Given the description of an element on the screen output the (x, y) to click on. 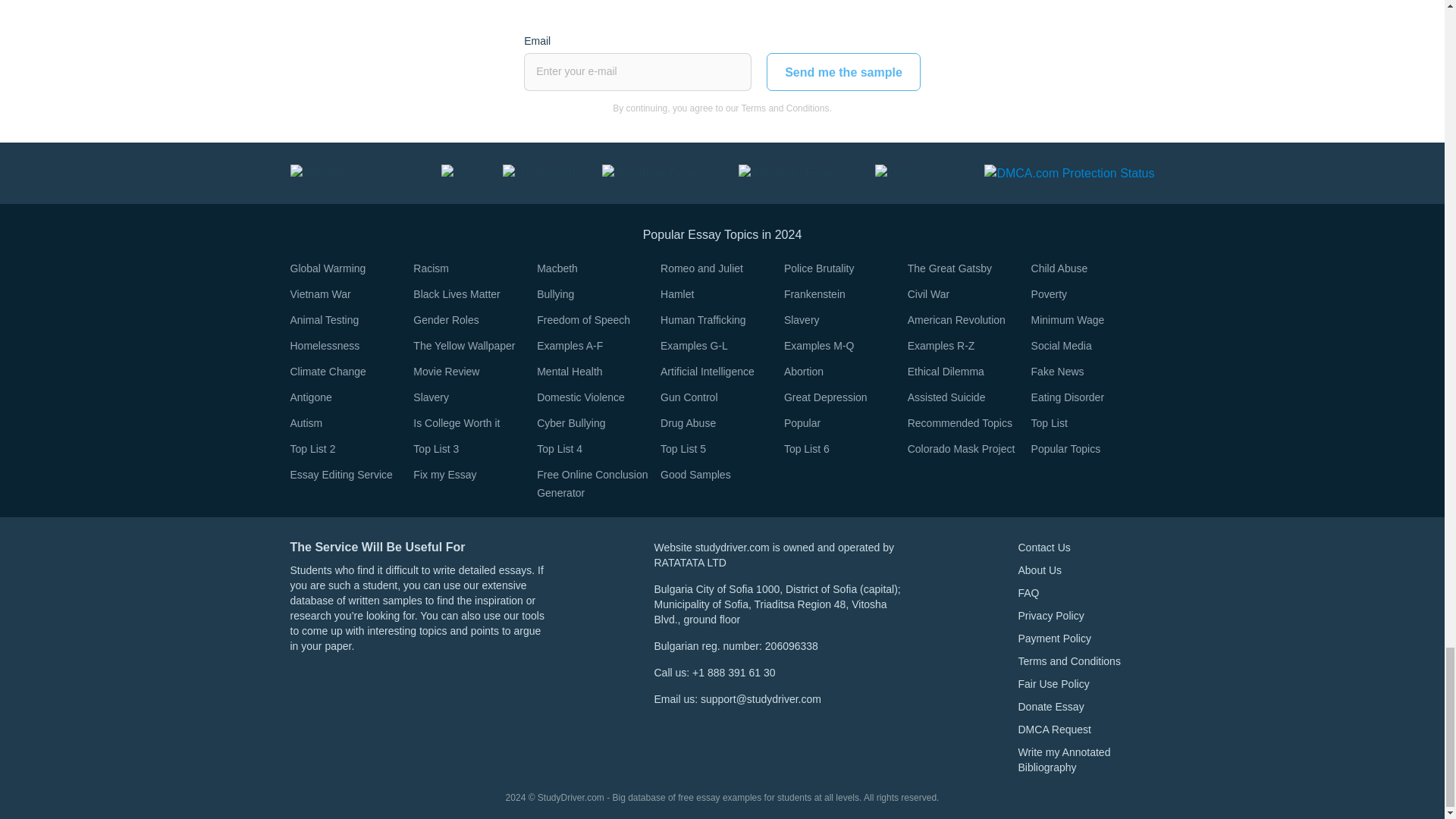
DMCA.com Protection Status (1069, 172)
